Given the description of an element on the screen output the (x, y) to click on. 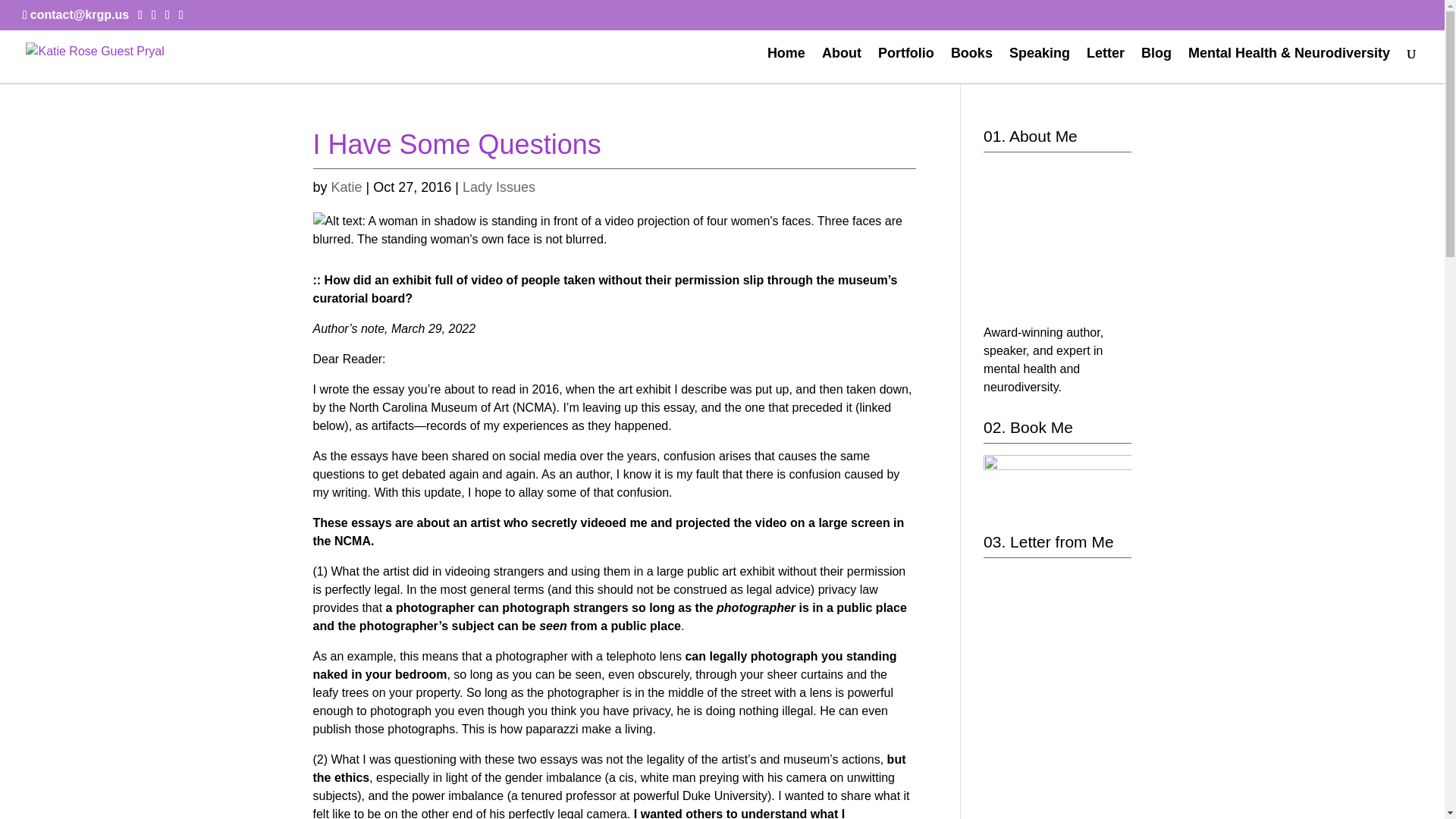
Books (971, 65)
02. Book Me (1057, 482)
Lady Issues (499, 186)
Letter (1105, 65)
Speaking (1039, 65)
Portfolio (905, 65)
Home (786, 65)
Katie (346, 186)
About (841, 65)
Posts by Katie (346, 186)
